Given the description of an element on the screen output the (x, y) to click on. 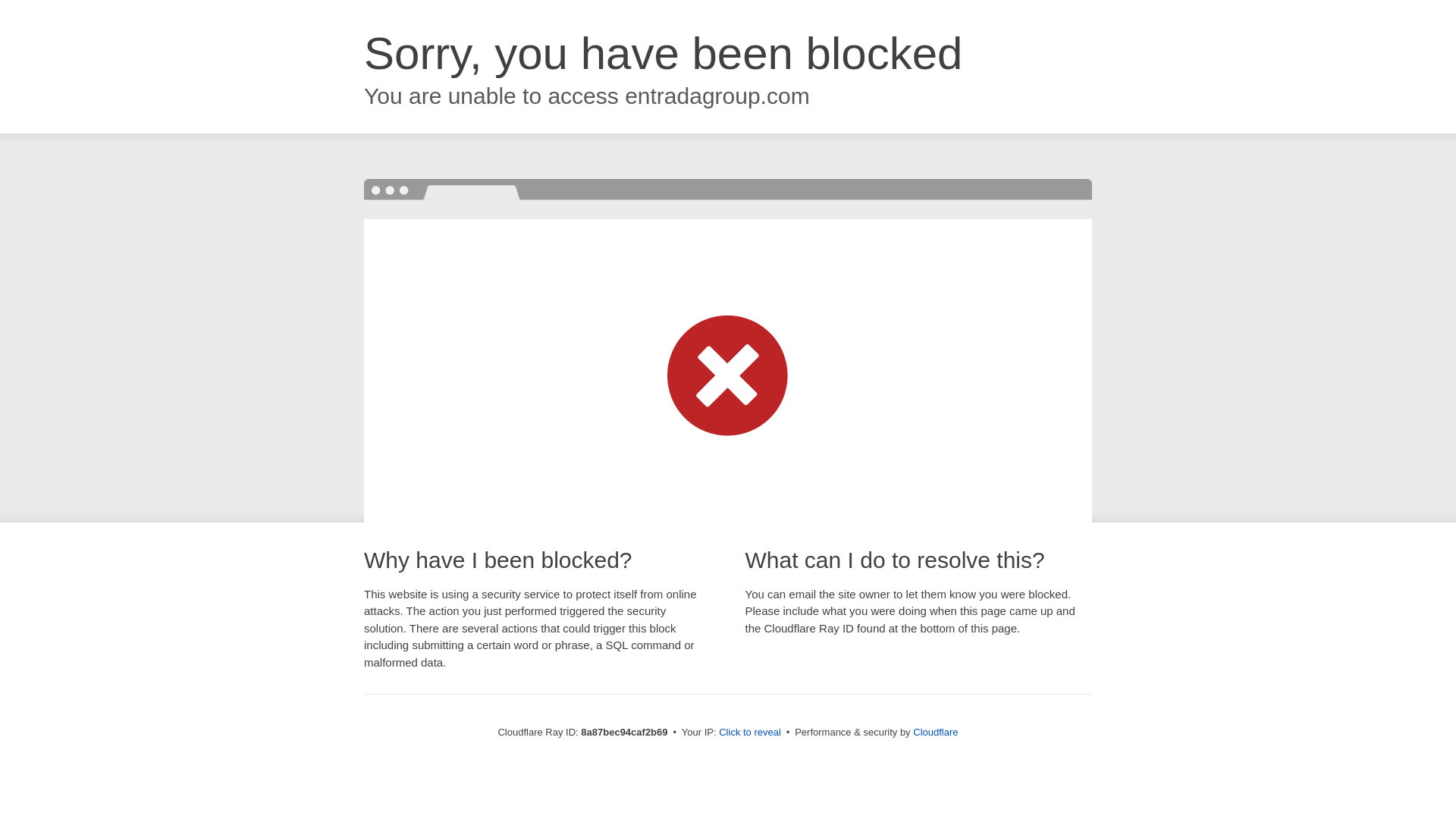
Cloudflare (935, 731)
Click to reveal (749, 732)
